Given the description of an element on the screen output the (x, y) to click on. 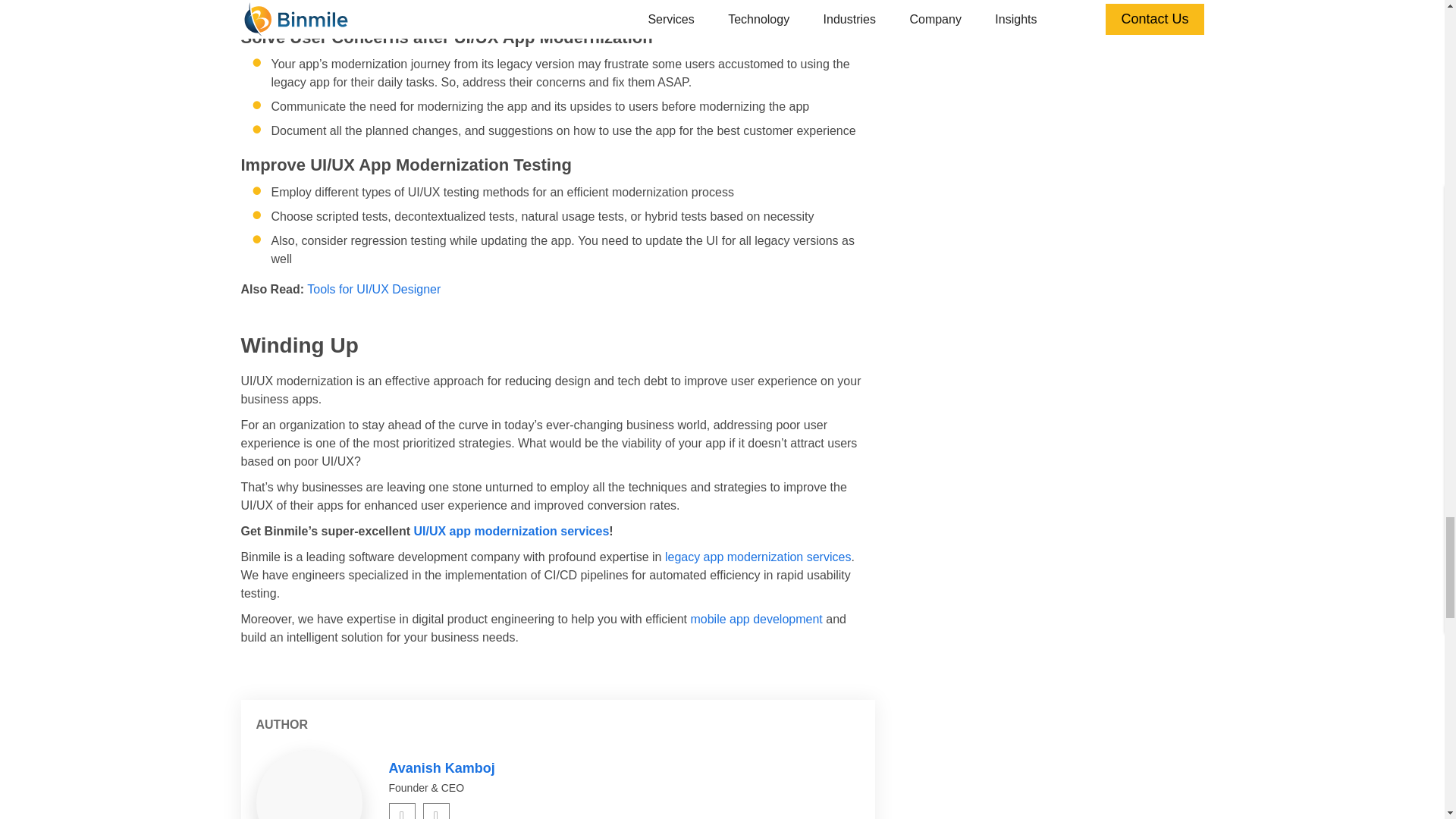
LinkedIn (401, 811)
Twitter (436, 811)
